Given the description of an element on the screen output the (x, y) to click on. 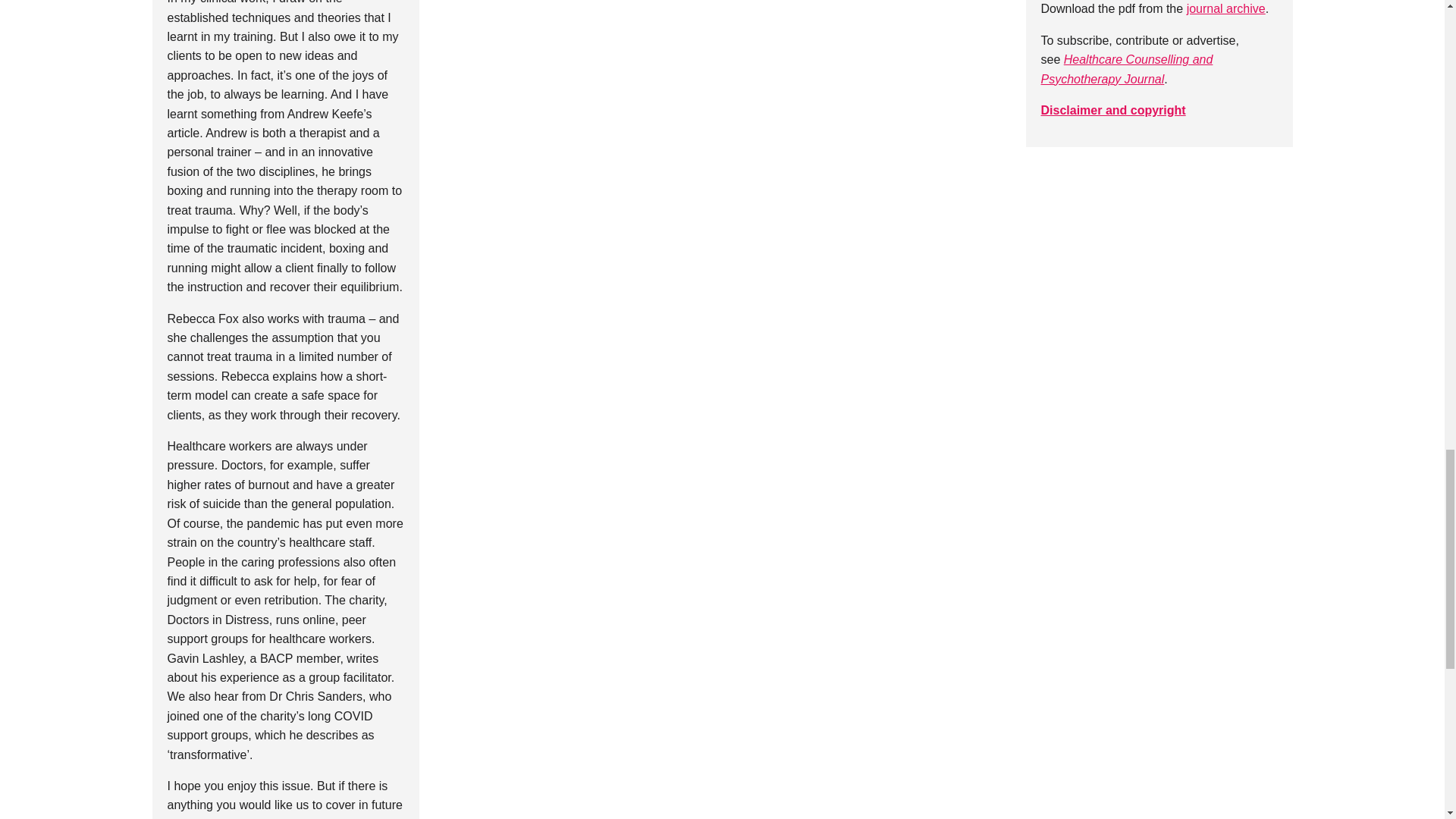
Disclaimer and copyright (1113, 110)
Archive (1225, 8)
Healthcare Counselling and Psychotherapy Journal (1126, 69)
